Given the description of an element on the screen output the (x, y) to click on. 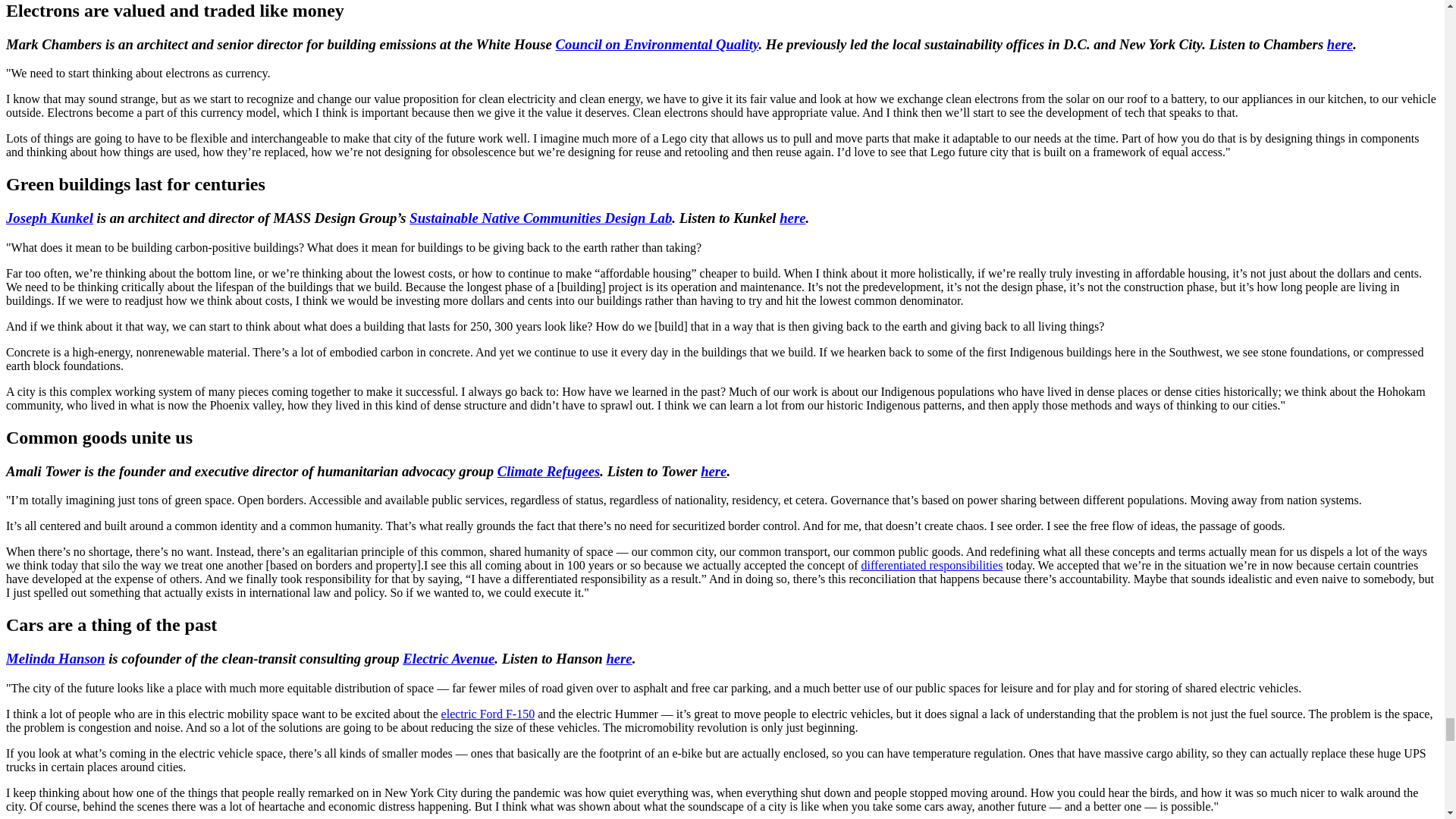
here (1339, 44)
here (791, 217)
Sustainable Native Communities Design Lab (540, 217)
Joseph Kunkel (49, 217)
Climate Refugees (548, 471)
Council on Environmental Quality (657, 44)
